Given the description of an element on the screen output the (x, y) to click on. 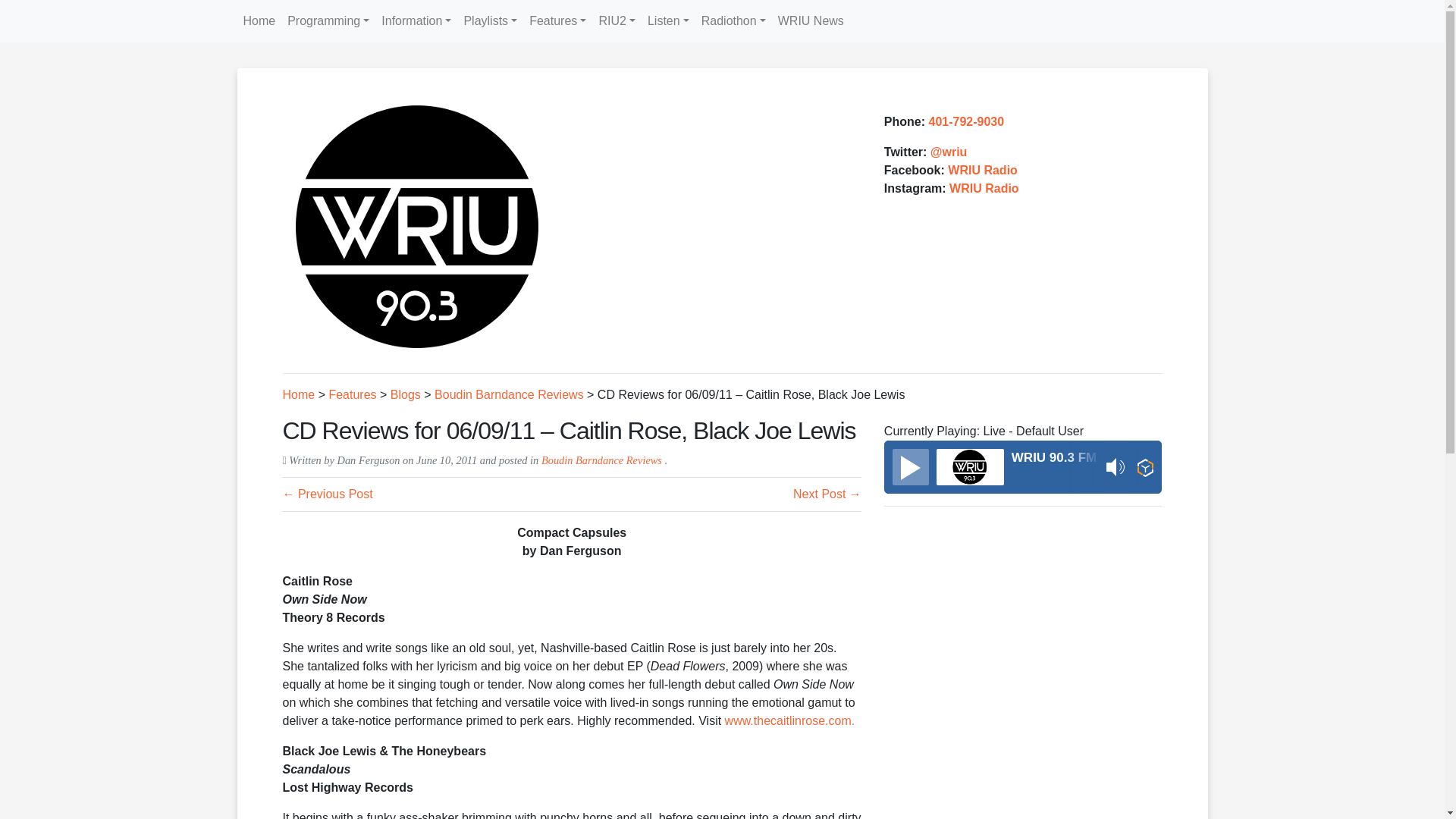
Home (258, 20)
Features (557, 20)
Home (258, 20)
Playlists (489, 20)
Programming (328, 20)
Programming (328, 20)
Information (416, 20)
Information (416, 20)
RIU2 (617, 20)
